Given the description of an element on the screen output the (x, y) to click on. 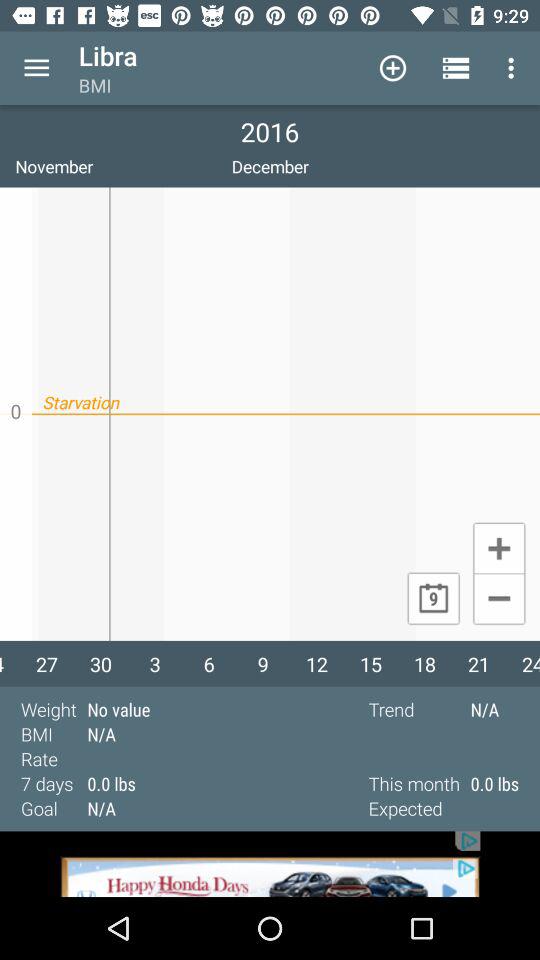
more options (36, 68)
